Given the description of an element on the screen output the (x, y) to click on. 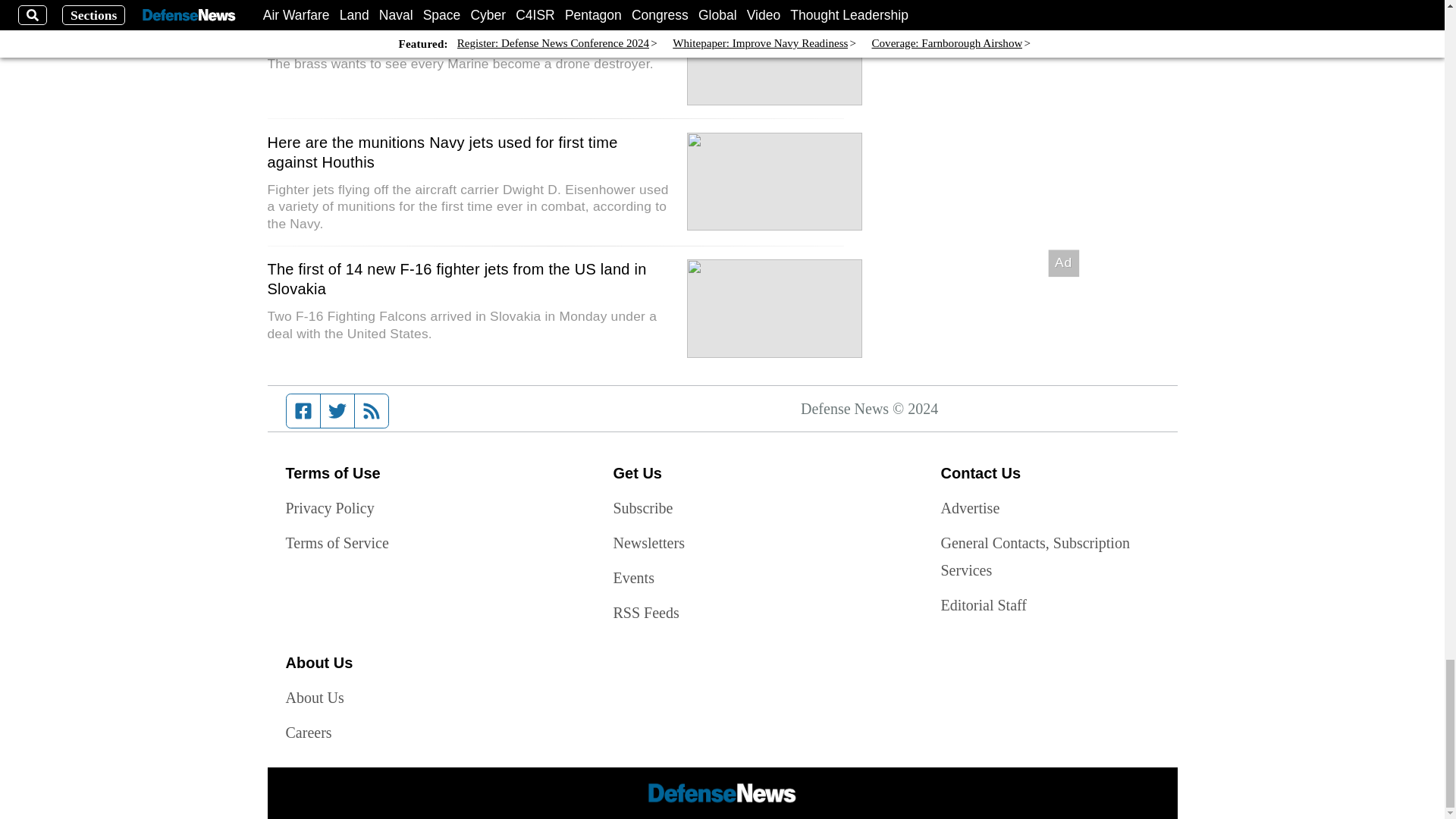
Facebook page (303, 410)
RSS feed (371, 410)
Twitter feed (336, 410)
